Given the description of an element on the screen output the (x, y) to click on. 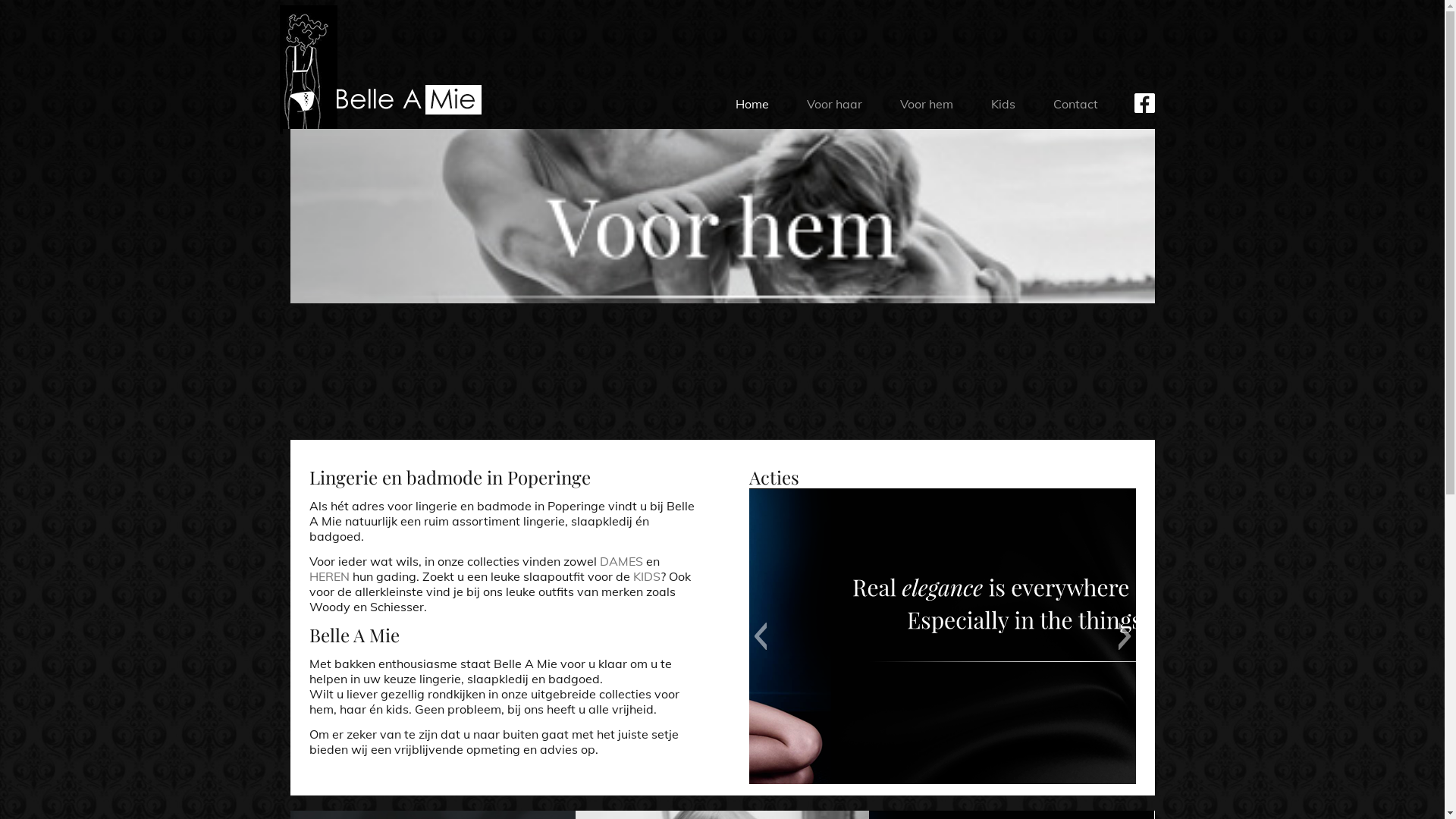
Voor haar Element type: text (833, 103)
Voor hem Element type: text (926, 103)
Kids Element type: text (1003, 103)
Contact Element type: text (1075, 103)
DAMES Element type: text (620, 560)
HEREN Element type: text (329, 575)
Home Element type: text (751, 103)
KIDS Element type: text (645, 575)
